Given the description of an element on the screen output the (x, y) to click on. 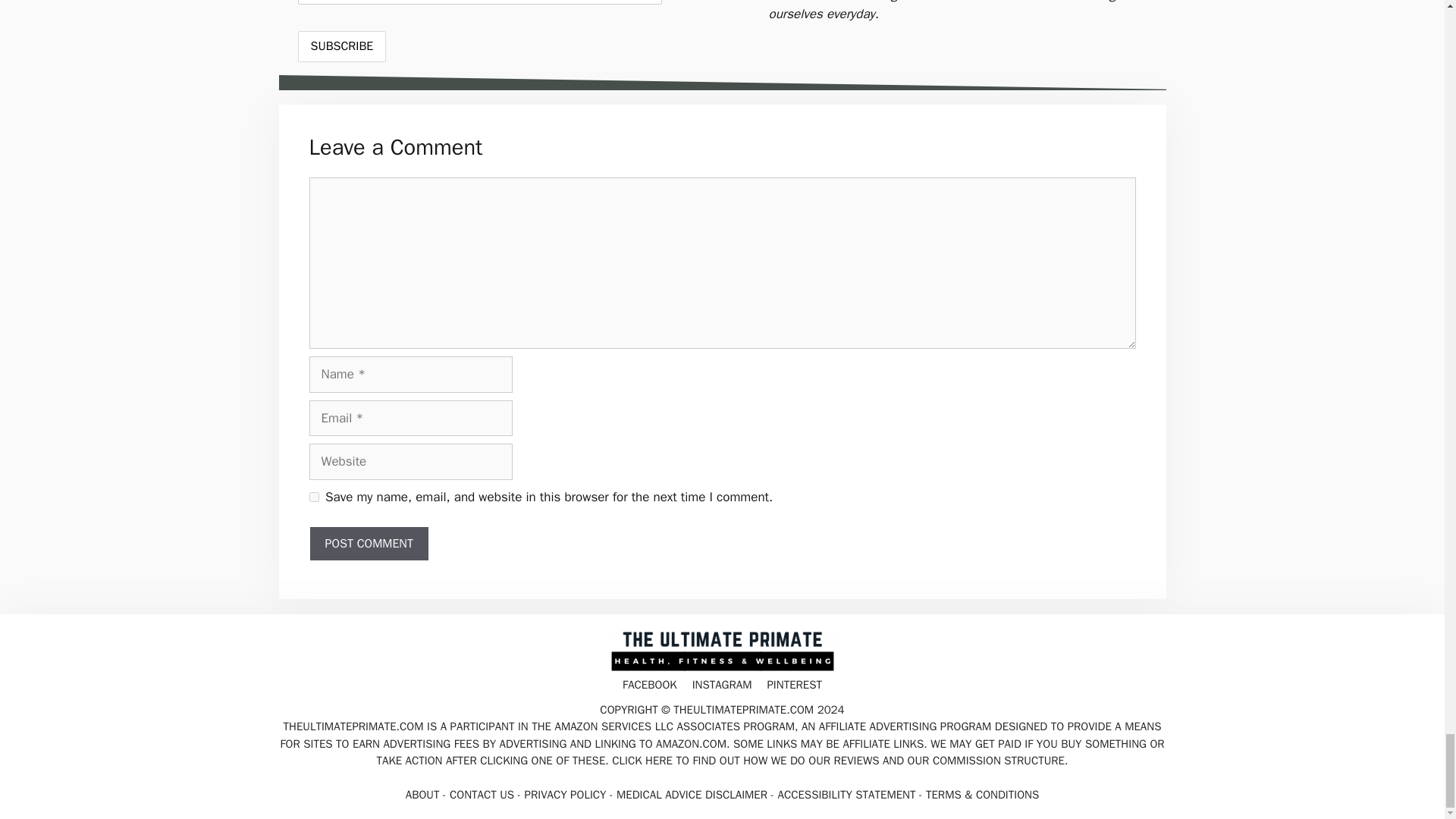
yes (313, 497)
Post Comment (368, 543)
Subscribe (341, 46)
